Given the description of an element on the screen output the (x, y) to click on. 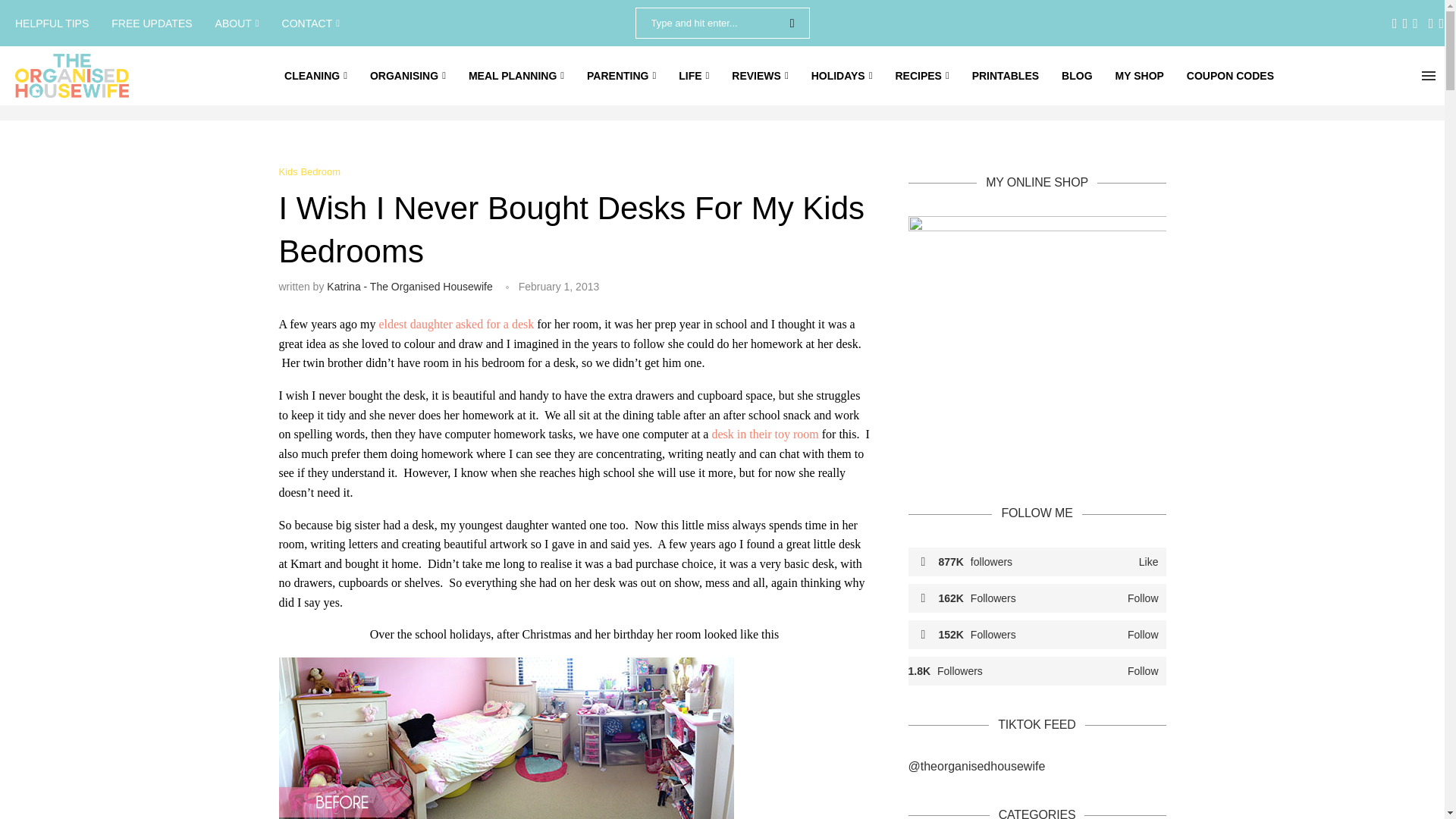
Type and hit enter... (721, 22)
